Given the description of an element on the screen output the (x, y) to click on. 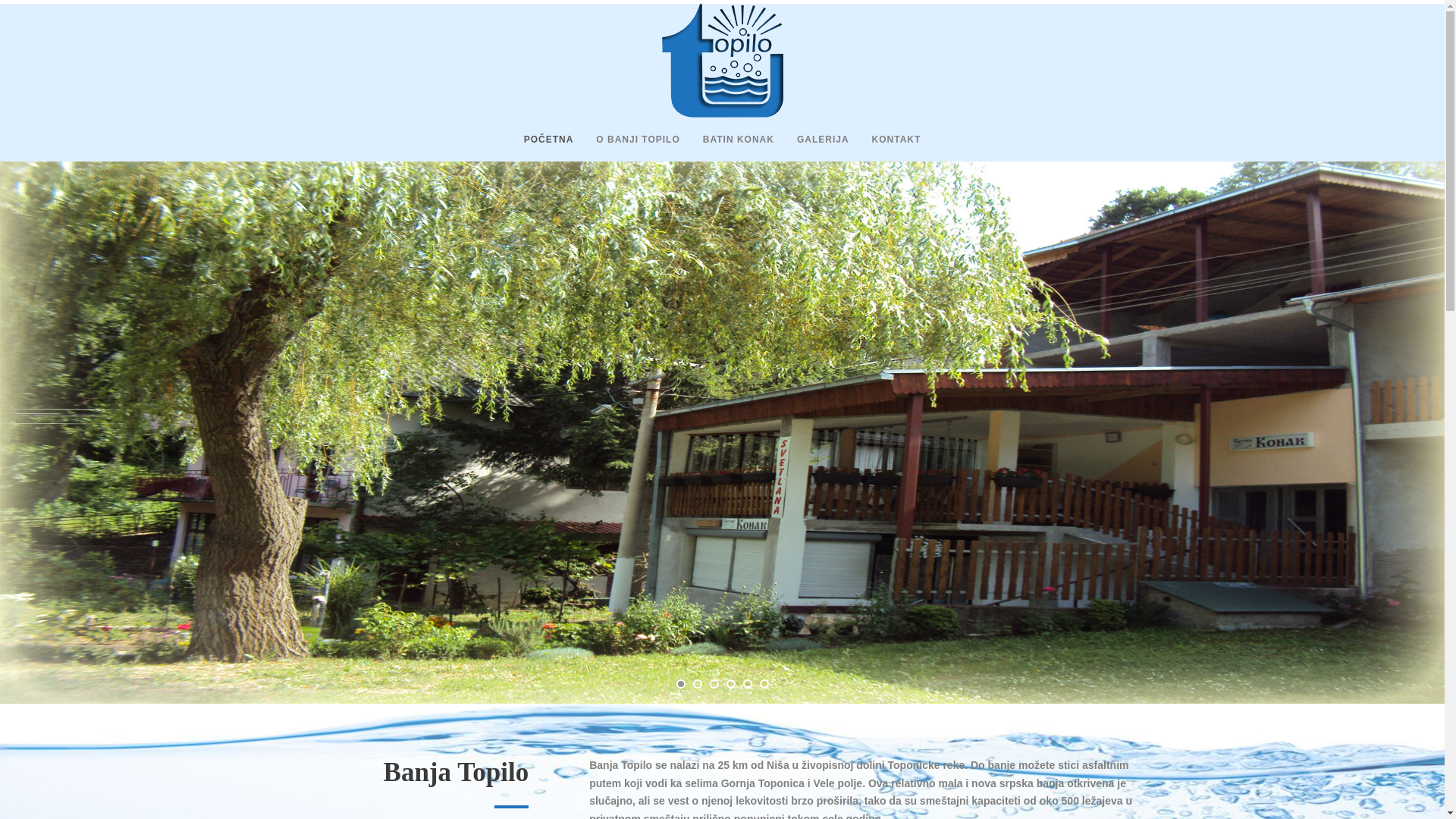
BATIN KONAK (726, 146)
O BANJI TOPILO (626, 146)
GALERIJA (811, 146)
KONTAKT (884, 146)
